Given the description of an element on the screen output the (x, y) to click on. 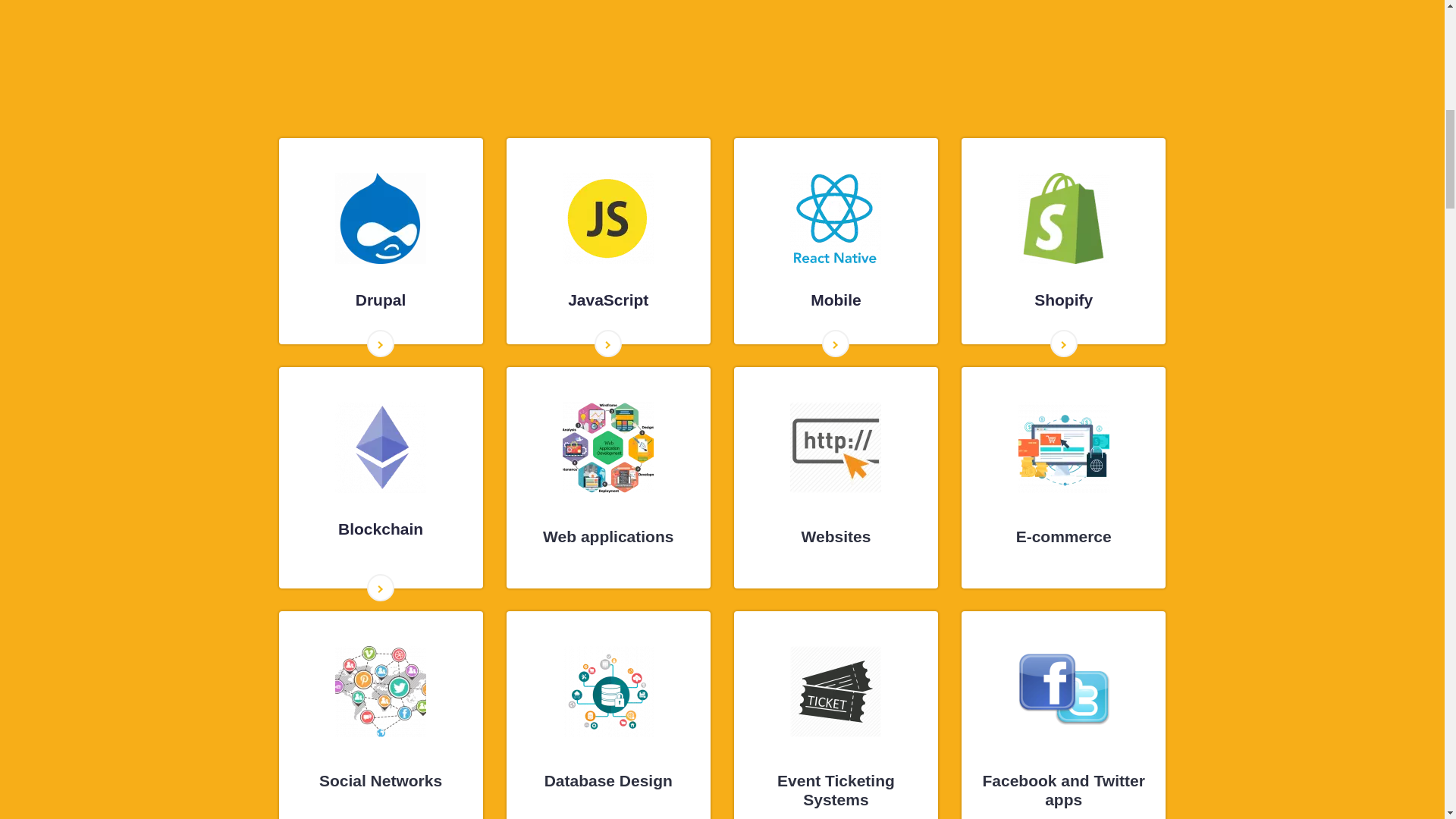
Drupal (380, 299)
Blockchain (380, 528)
Shopify (1063, 299)
JavaScript (608, 299)
Mobile (836, 299)
